Given the description of an element on the screen output the (x, y) to click on. 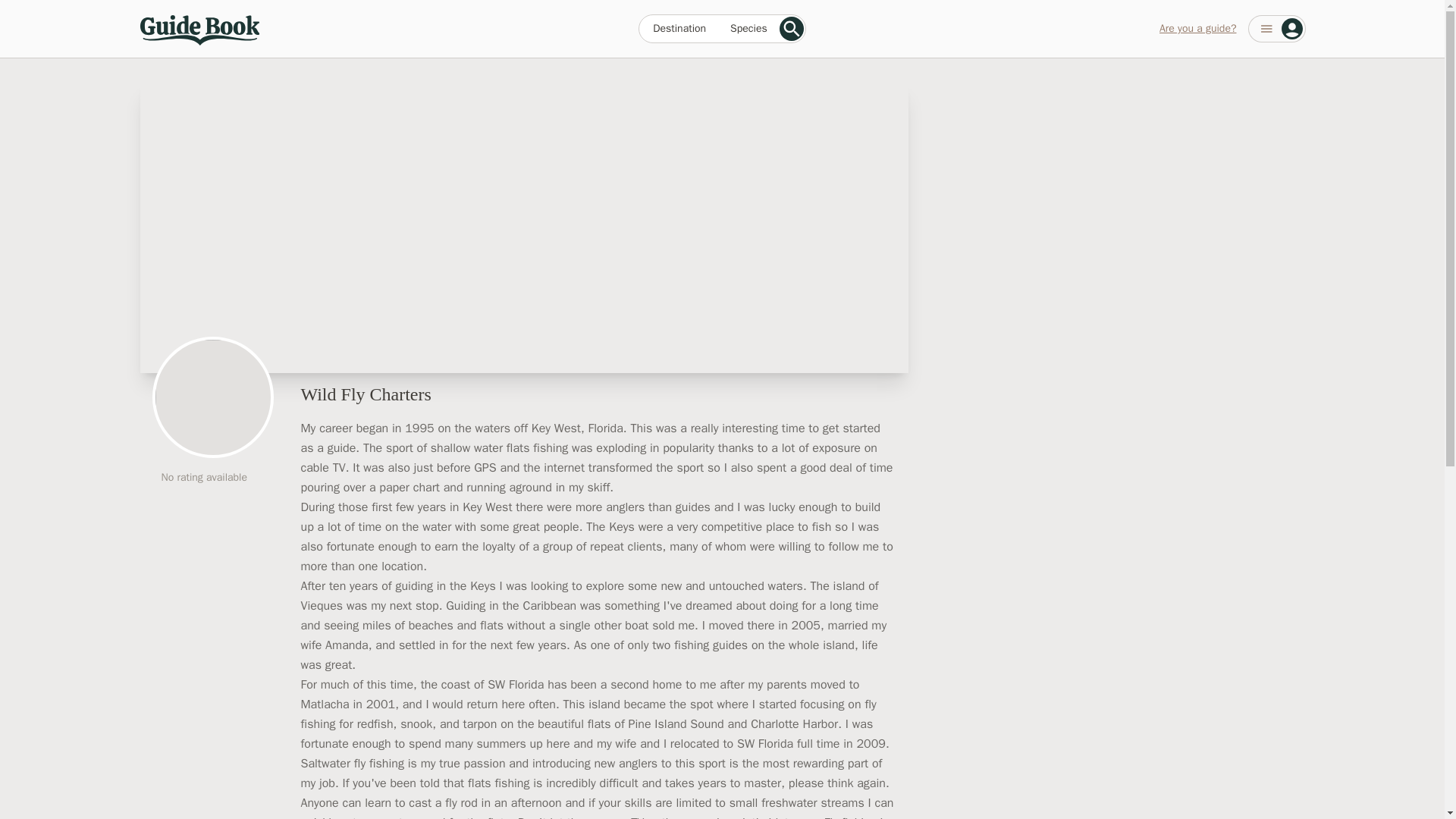
Are you a guide? (1197, 28)
